Given the description of an element on the screen output the (x, y) to click on. 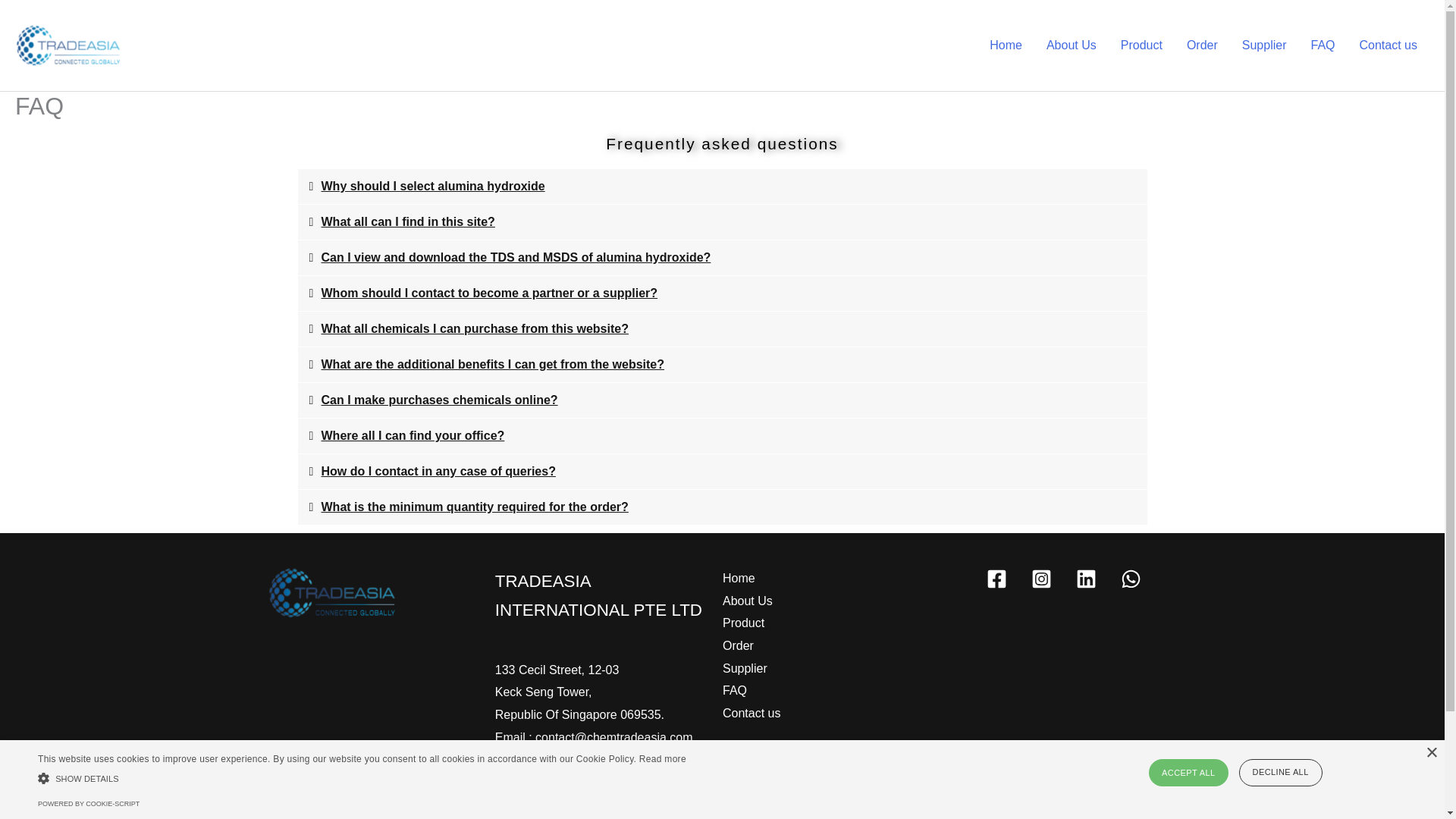
Can I make purchases chemicals online? (439, 399)
What is the minimum quantity required for the order? (474, 506)
Order (738, 645)
Supplier (744, 668)
Whom should I contact to become a partner or a supplier? (489, 292)
Product (743, 622)
Contact us (1388, 45)
Home (738, 578)
How do I contact in any case of queries? (438, 471)
Contact us (751, 712)
What all can I find in this site? (408, 221)
About Us (747, 600)
Why should I select alumina hydroxide (432, 185)
What all chemicals I can purchase from this website? (474, 328)
What are the additional benefits I can get from the website? (493, 364)
